Given the description of an element on the screen output the (x, y) to click on. 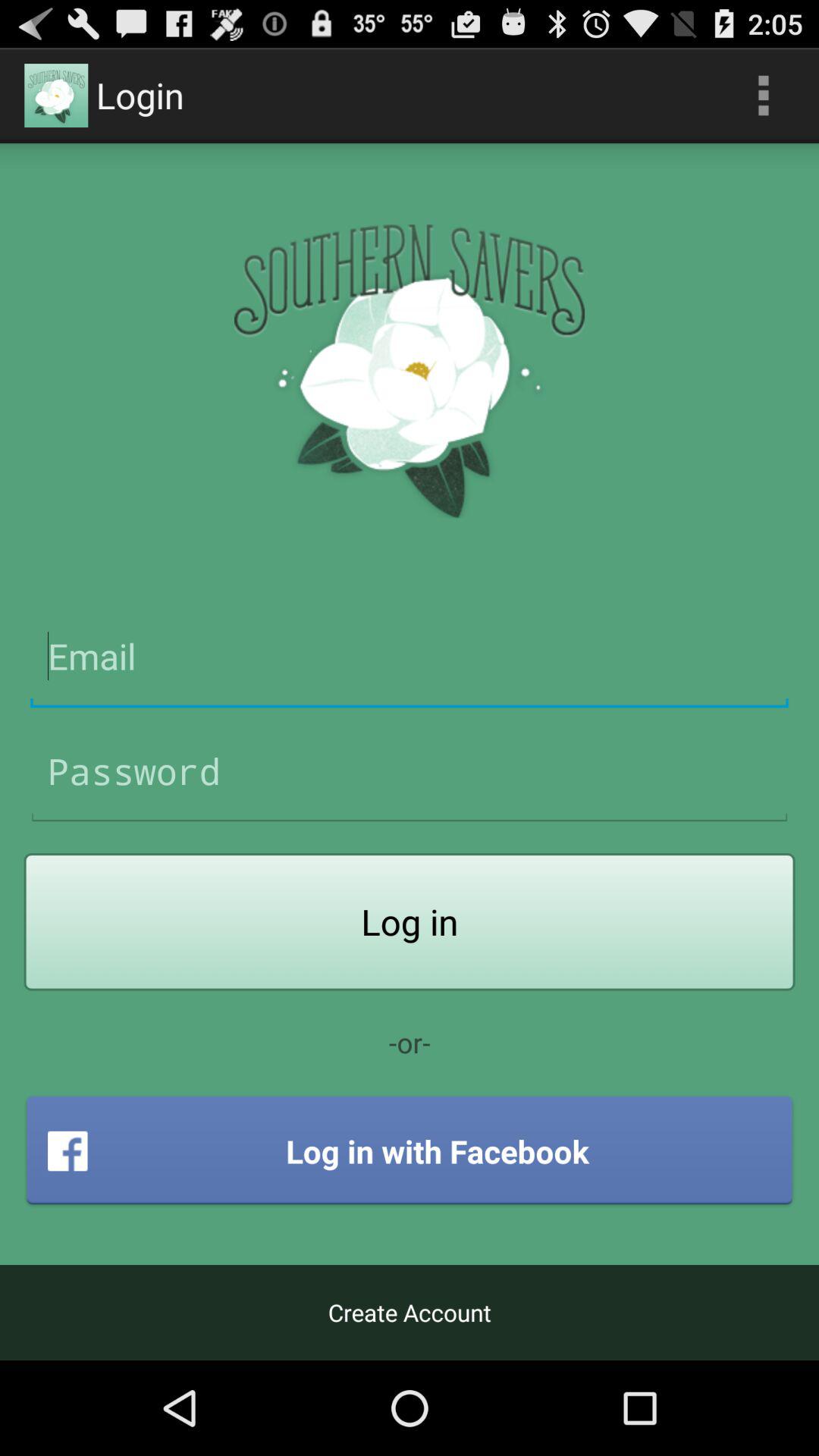
app i.d (409, 656)
